Given the description of an element on the screen output the (x, y) to click on. 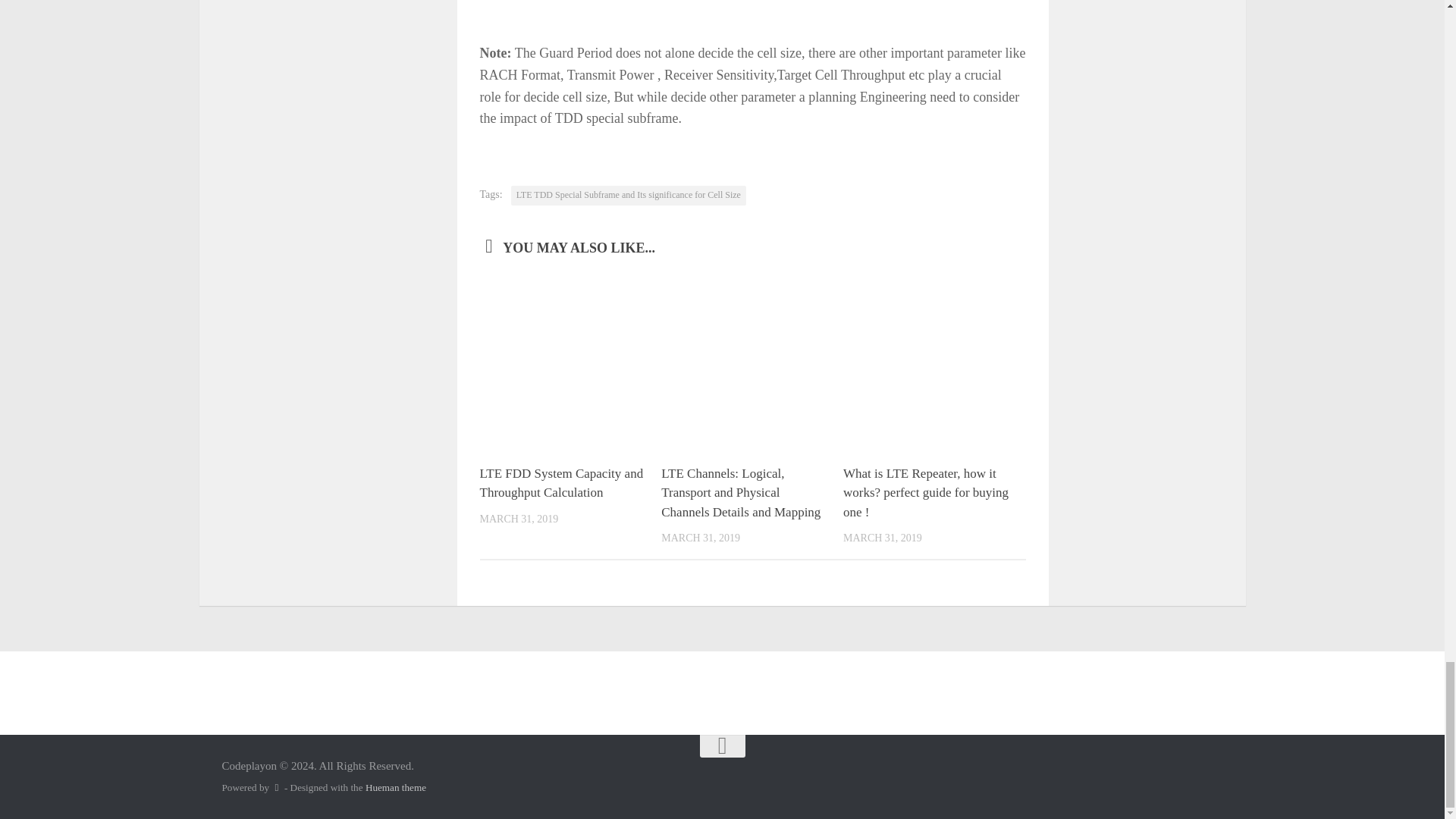
LTE TDD Special Subframe and Its significance for Cell Size (628, 195)
Hueman theme (395, 787)
Powered by WordPress (275, 787)
